Given the description of an element on the screen output the (x, y) to click on. 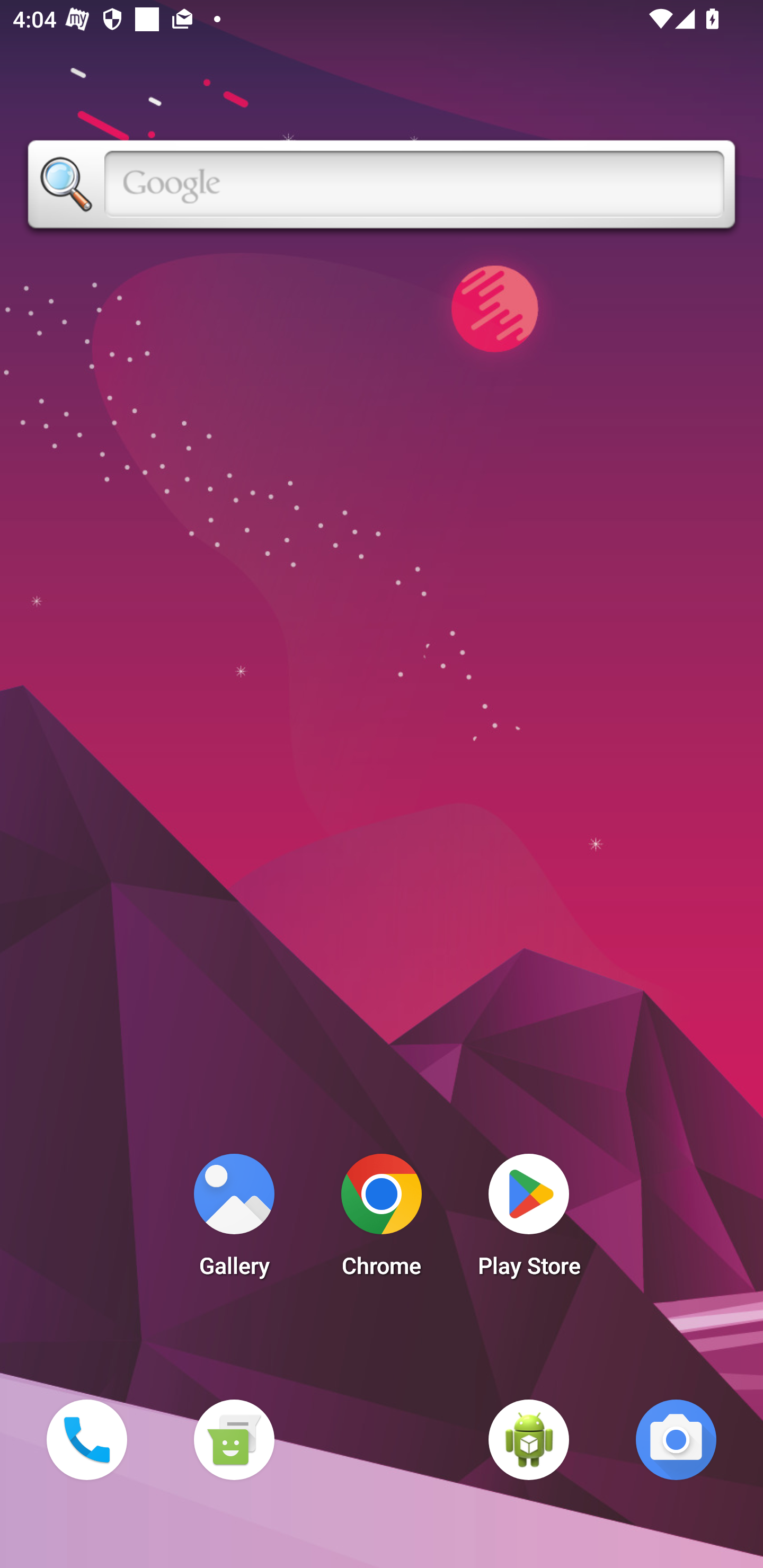
Gallery (233, 1220)
Chrome (381, 1220)
Play Store (528, 1220)
Phone (86, 1439)
Messaging (233, 1439)
WebView Browser Tester (528, 1439)
Camera (676, 1439)
